Given the description of an element on the screen output the (x, y) to click on. 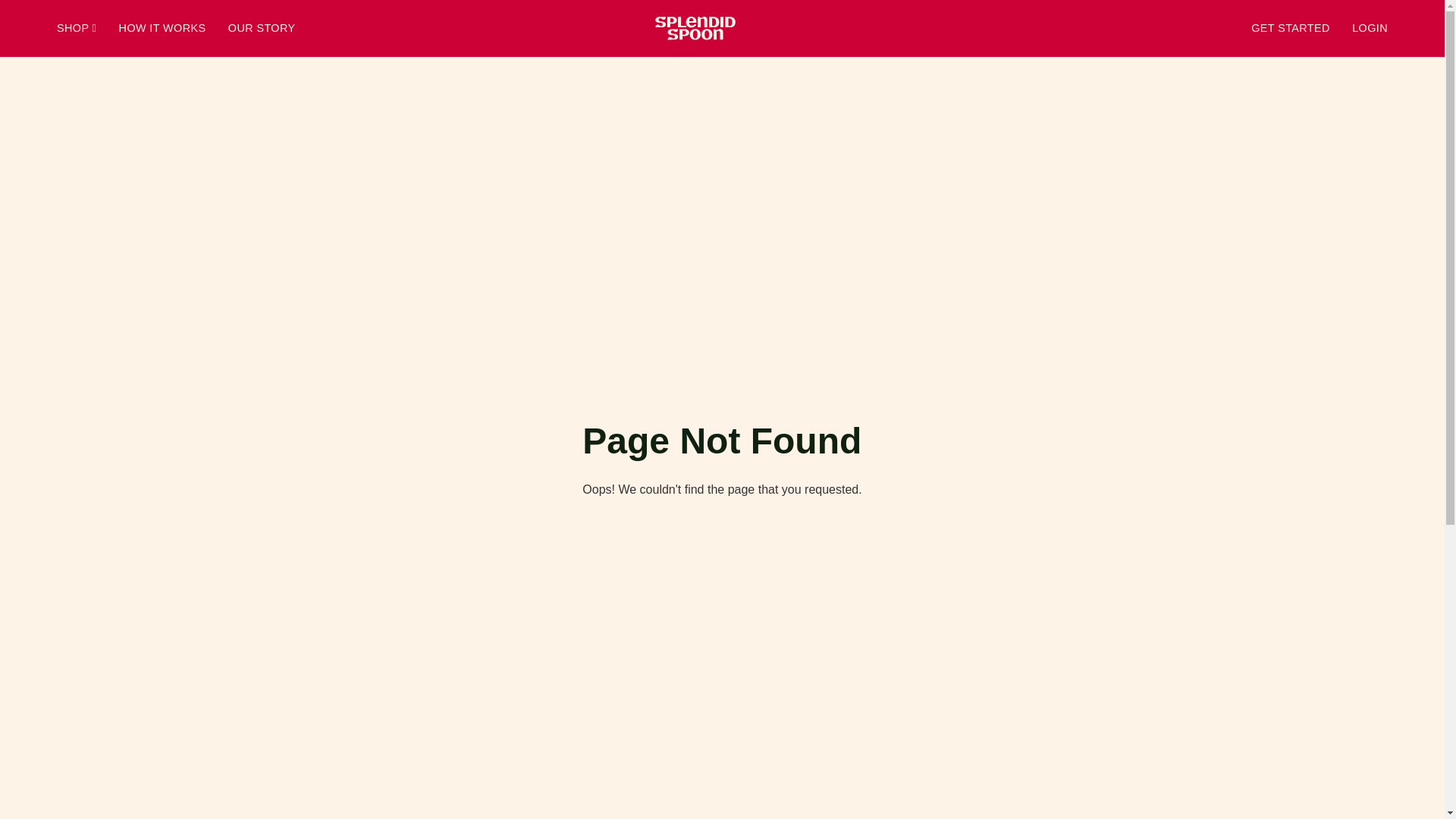
LOGIN (1369, 28)
SHOP (78, 28)
HOW IT WORKS (164, 28)
OUR STORY (261, 28)
GET STARTED (1291, 28)
